Given the description of an element on the screen output the (x, y) to click on. 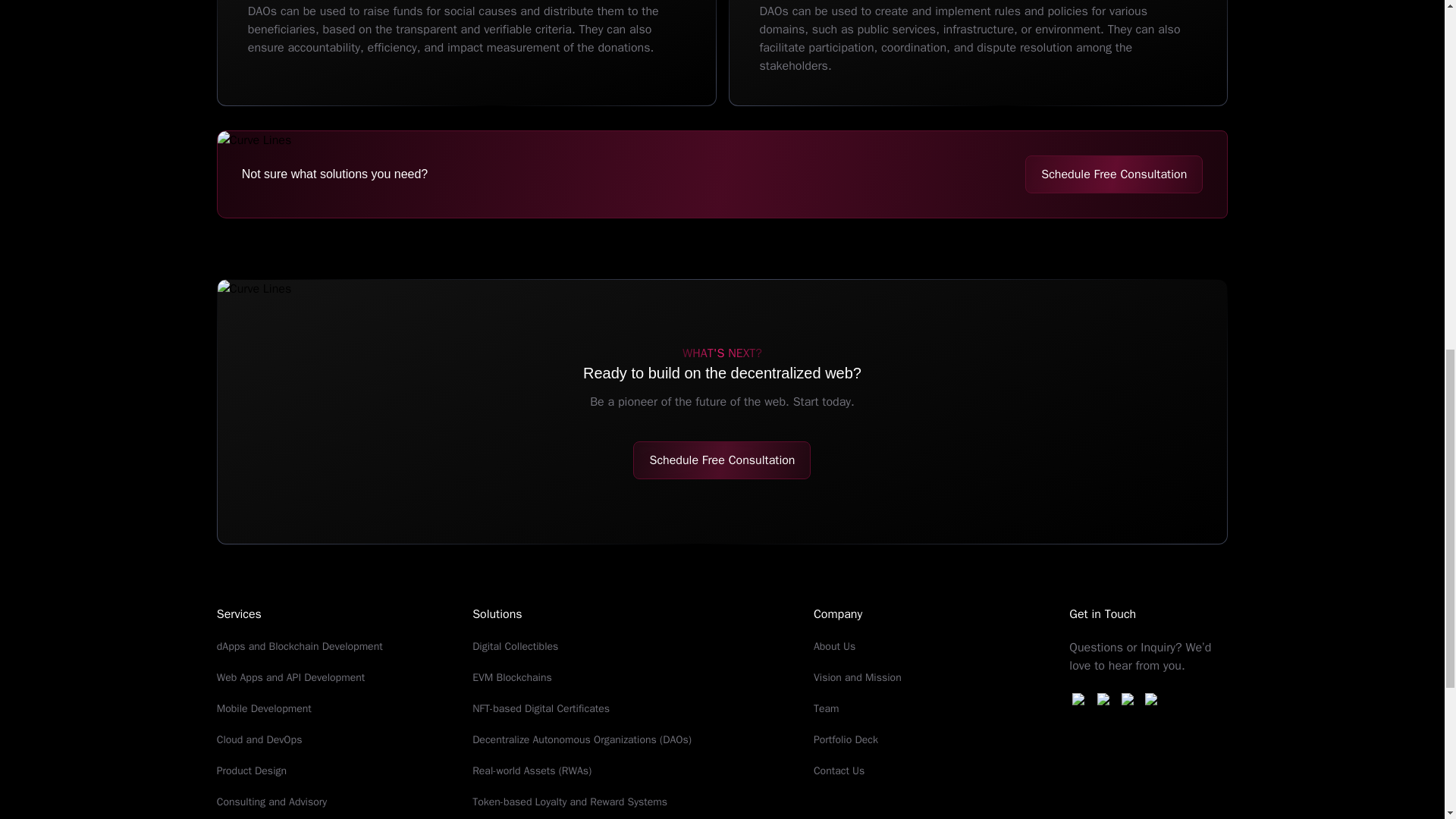
Token-based Loyalty and Reward Systems (568, 801)
Schedule Free Consultation (1113, 174)
Consulting and Advisory (271, 801)
Cloud and DevOps (259, 739)
dApps and Blockchain Development (299, 645)
Mobile Development (263, 707)
Team (826, 707)
About Us (834, 645)
Schedule Free Consultation (721, 460)
Digital Collectibles (514, 645)
